Given the description of an element on the screen output the (x, y) to click on. 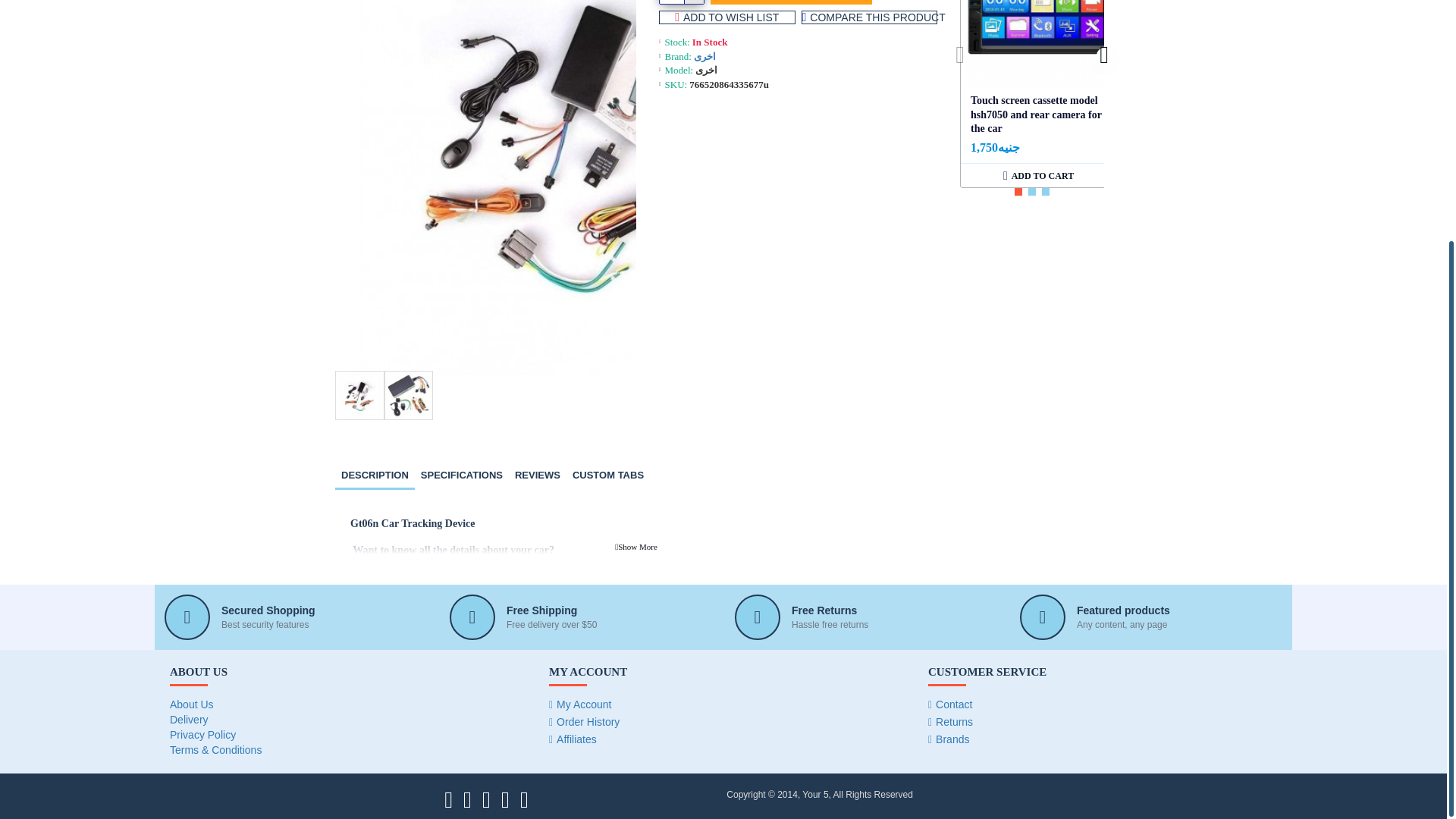
1 (681, 2)
GPS car tracking open server (359, 395)
GPS car tracking open server (408, 395)
